Given the description of an element on the screen output the (x, y) to click on. 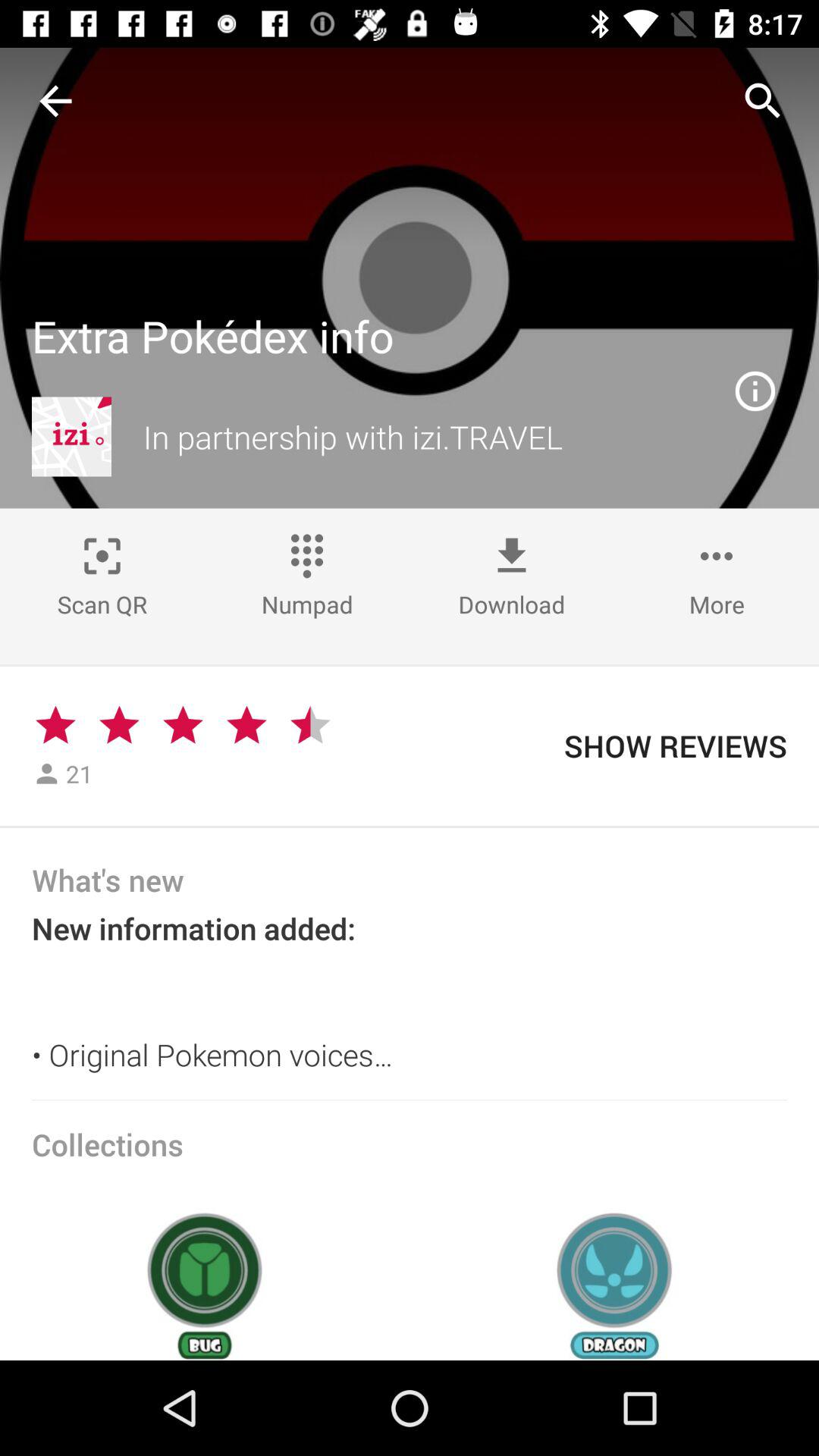
launch the item next to show reviews (310, 725)
